Given the description of an element on the screen output the (x, y) to click on. 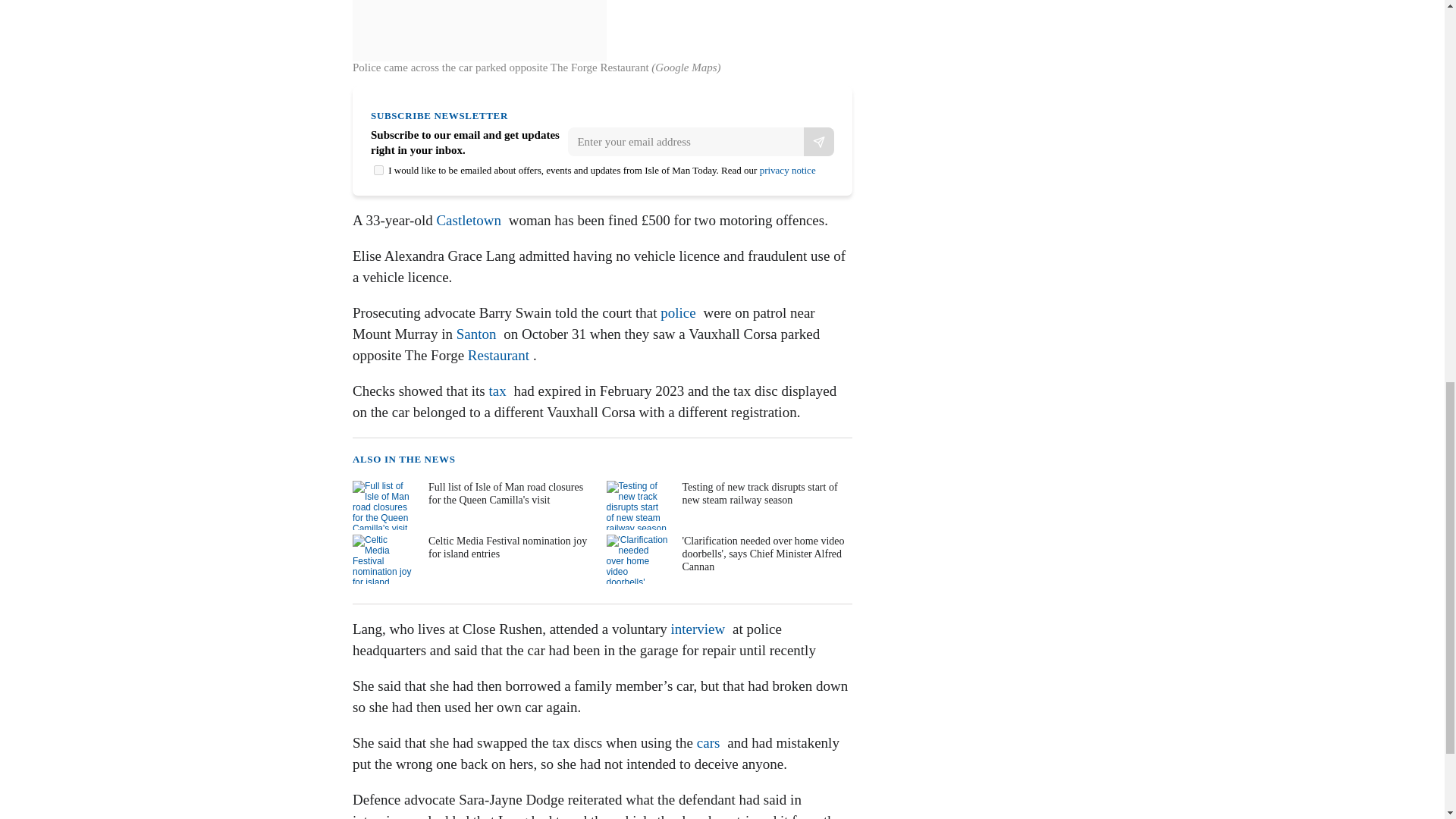
privacy notice (787, 170)
Celtic Media Festival nomination joy for island entries (473, 558)
cars (708, 742)
tax (496, 390)
interview (697, 628)
Restaurant (498, 355)
on (379, 170)
